Given the description of an element on the screen output the (x, y) to click on. 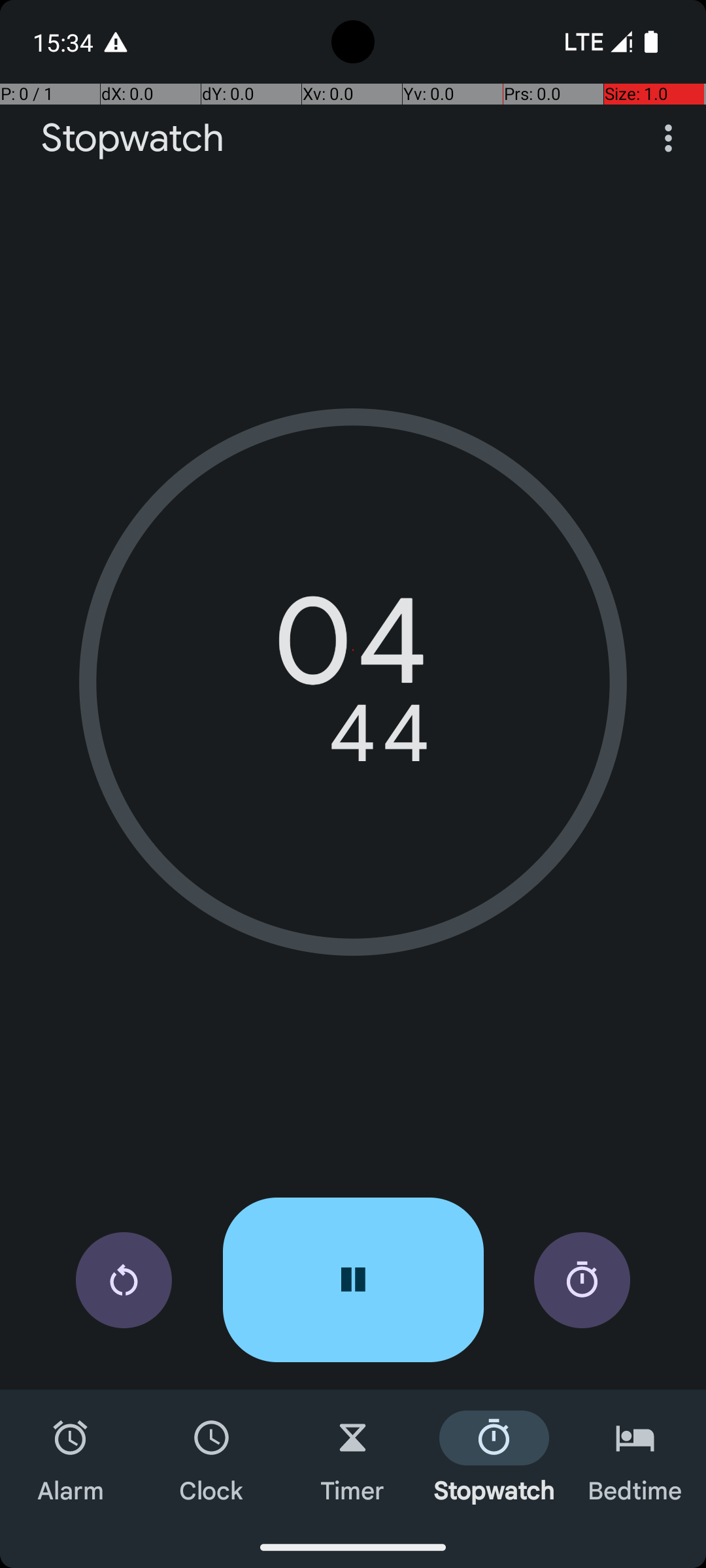
Pause Element type: android.widget.Button (352, 1279)
Lap Element type: android.widget.ImageButton (582, 1280)
